Given the description of an element on the screen output the (x, y) to click on. 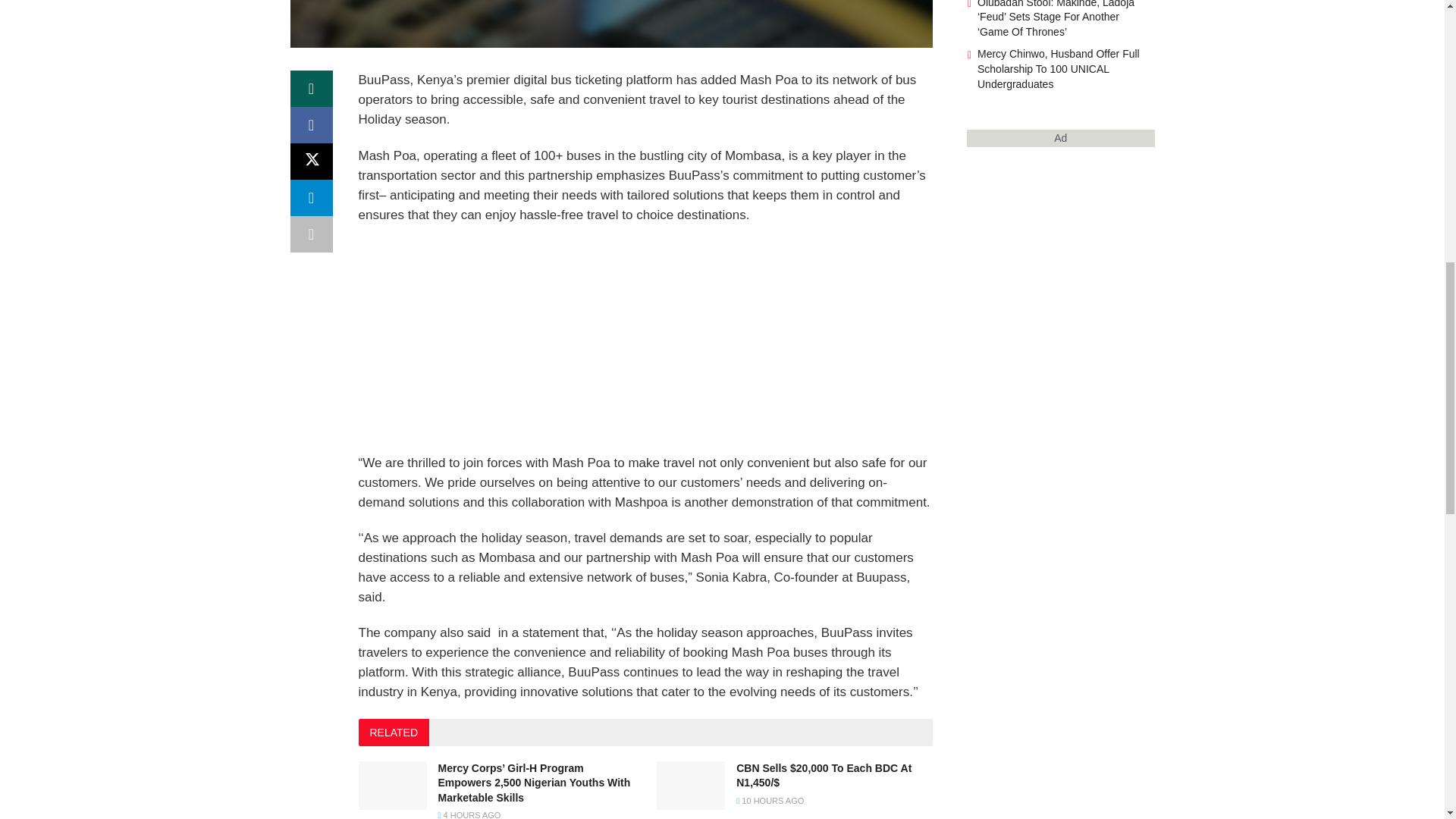
Advertisement (645, 346)
Leny yoro (611, 24)
